Given the description of an element on the screen output the (x, y) to click on. 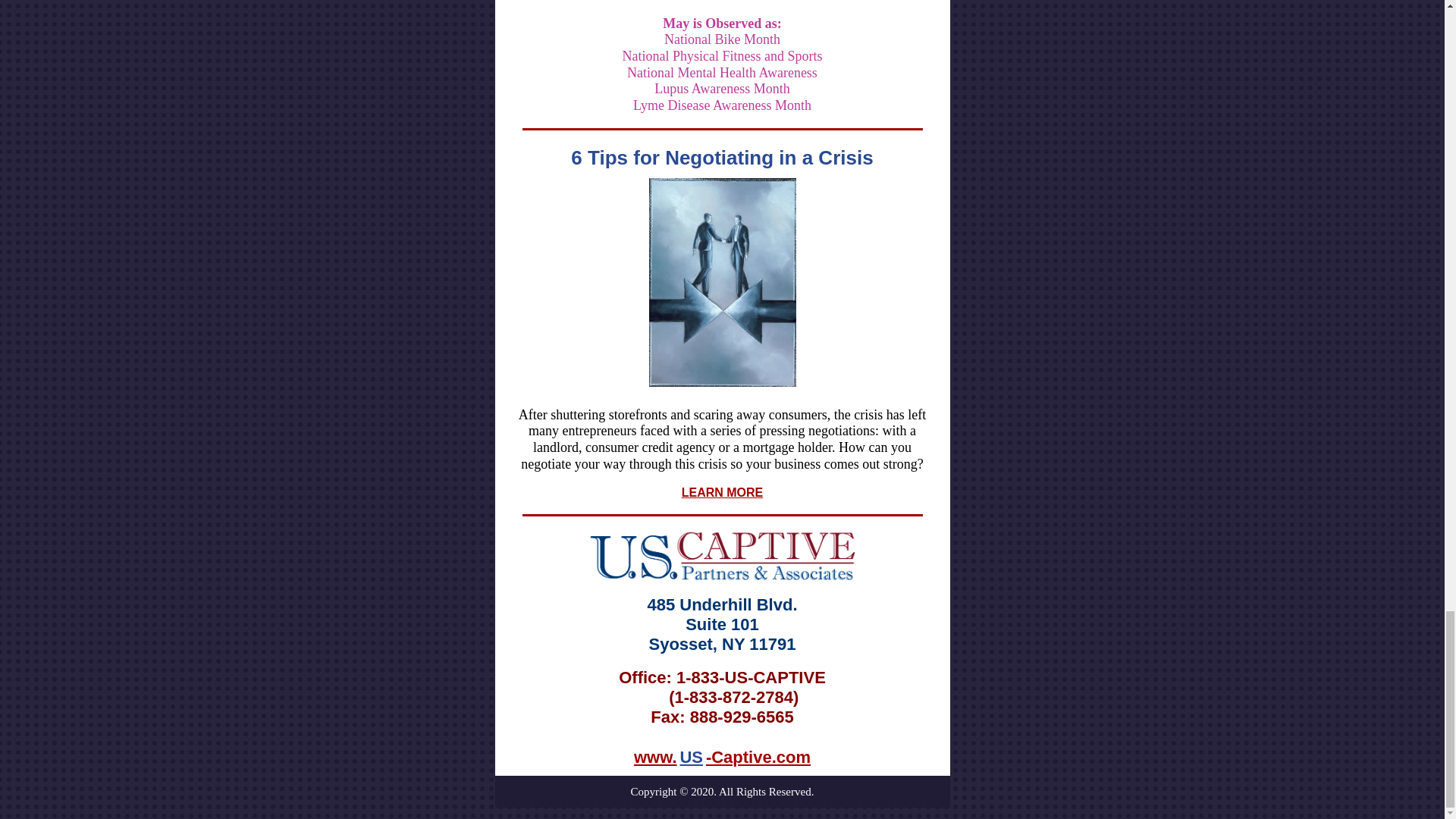
-Captive.com (758, 756)
www. (655, 756)
LEARN MORE (721, 492)
US (691, 756)
